Given the description of an element on the screen output the (x, y) to click on. 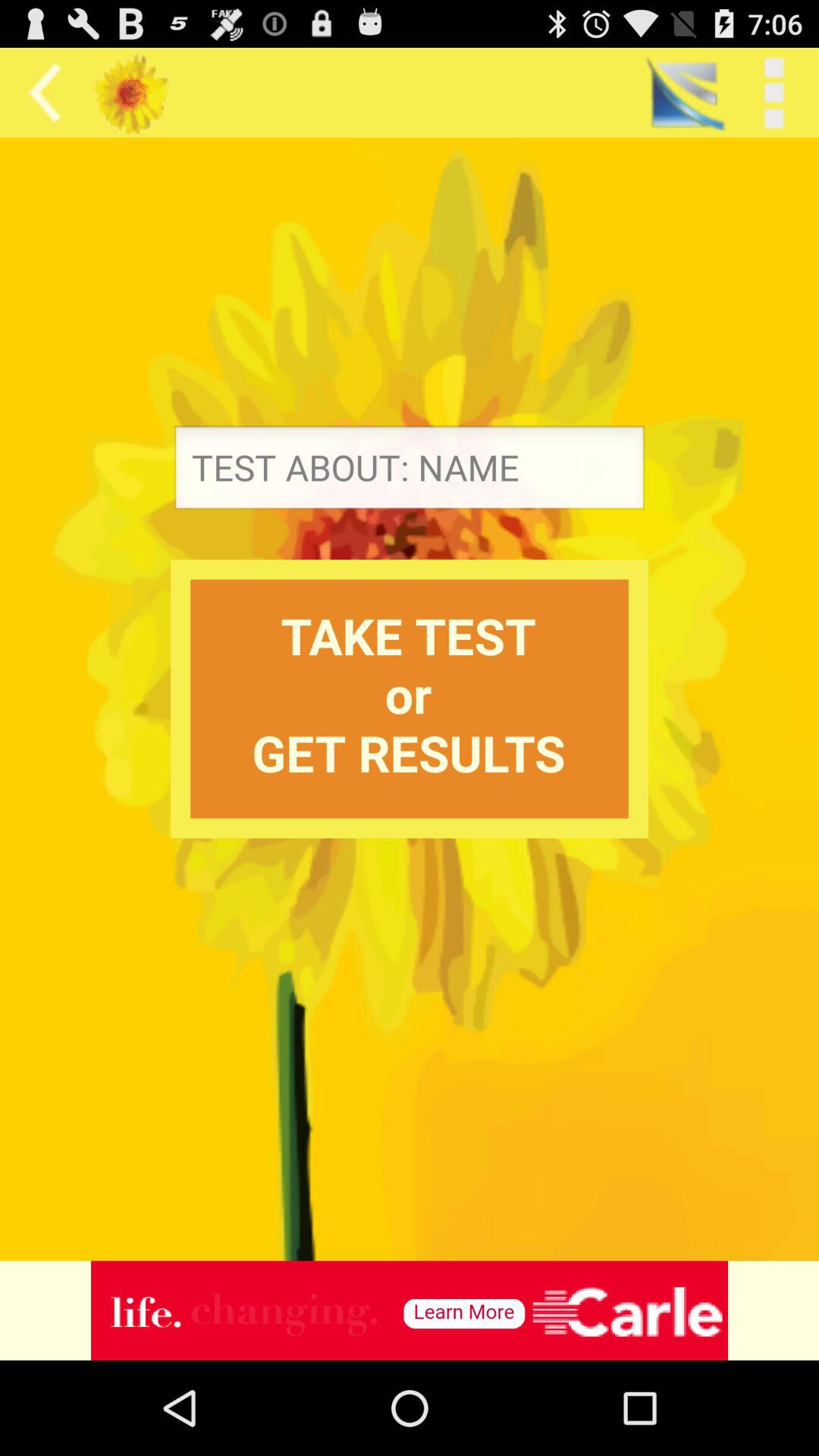
add icone (409, 1310)
